Given the description of an element on the screen output the (x, y) to click on. 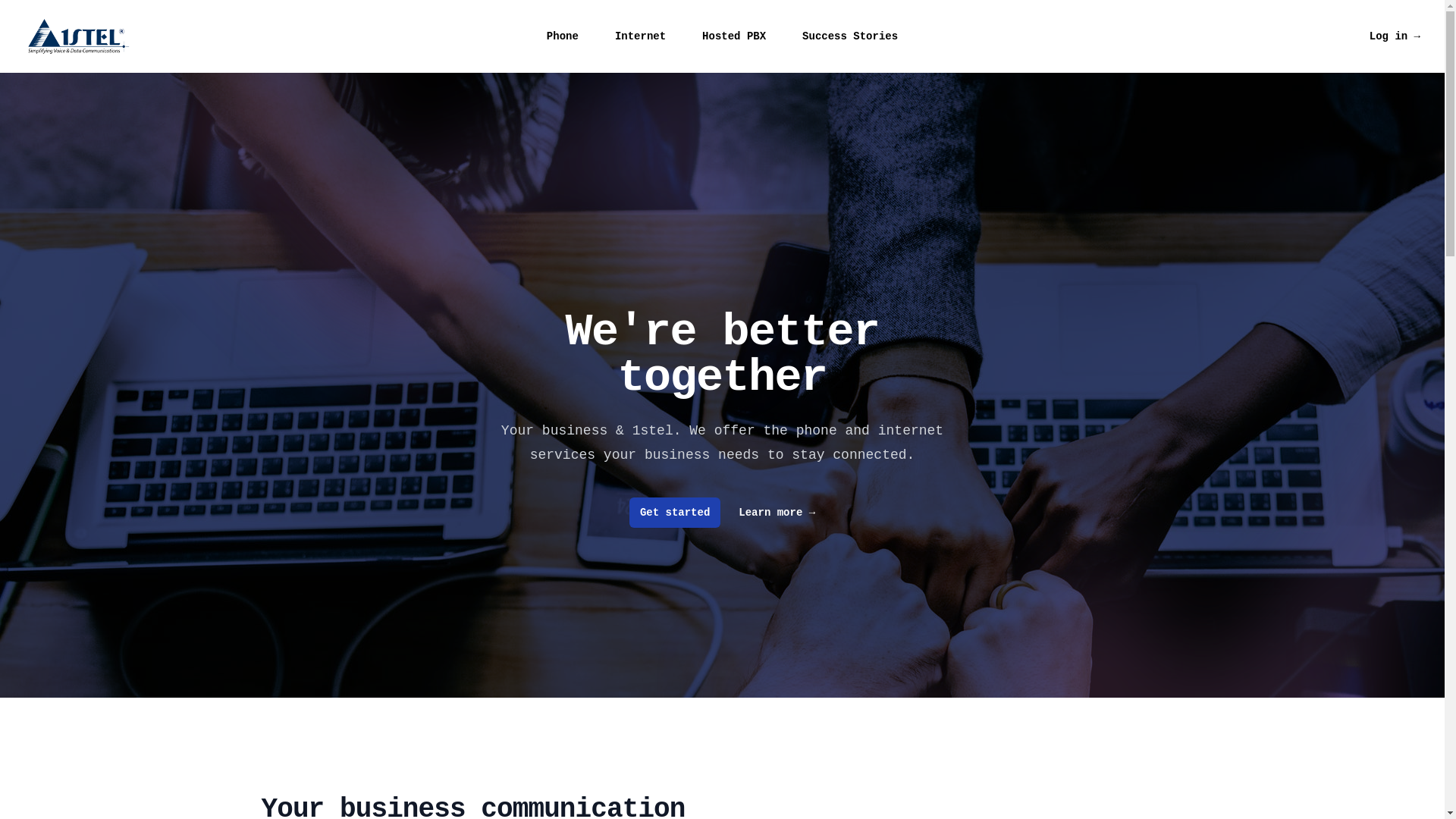
1stel Element type: text (78, 36)
Phone Element type: text (562, 36)
Success Stories Element type: text (849, 36)
Internet Element type: text (640, 36)
Get started Element type: text (674, 512)
Hosted PBX Element type: text (733, 36)
